Given the description of an element on the screen output the (x, y) to click on. 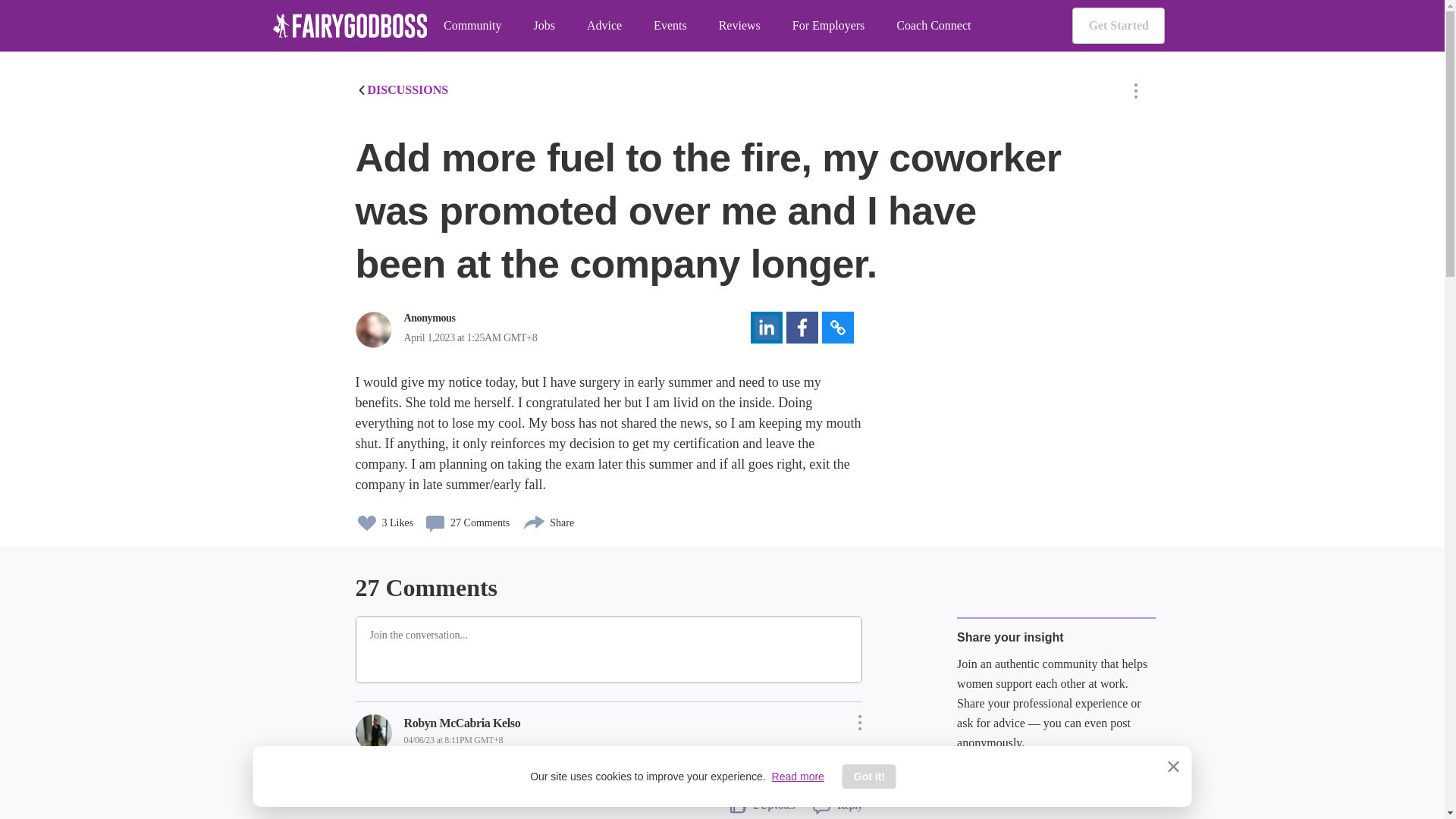
3 Likes (384, 517)
Coach Connect (933, 25)
Reviews (739, 25)
Advice (603, 25)
For Employers (828, 25)
Community (472, 25)
2 Upvotes (762, 803)
Sign up now (1011, 781)
Reply (830, 803)
Reviews (739, 25)
DISCUSSIONS (401, 89)
Events (670, 25)
Events (670, 25)
Advice (603, 25)
Community (472, 25)
